Given the description of an element on the screen output the (x, y) to click on. 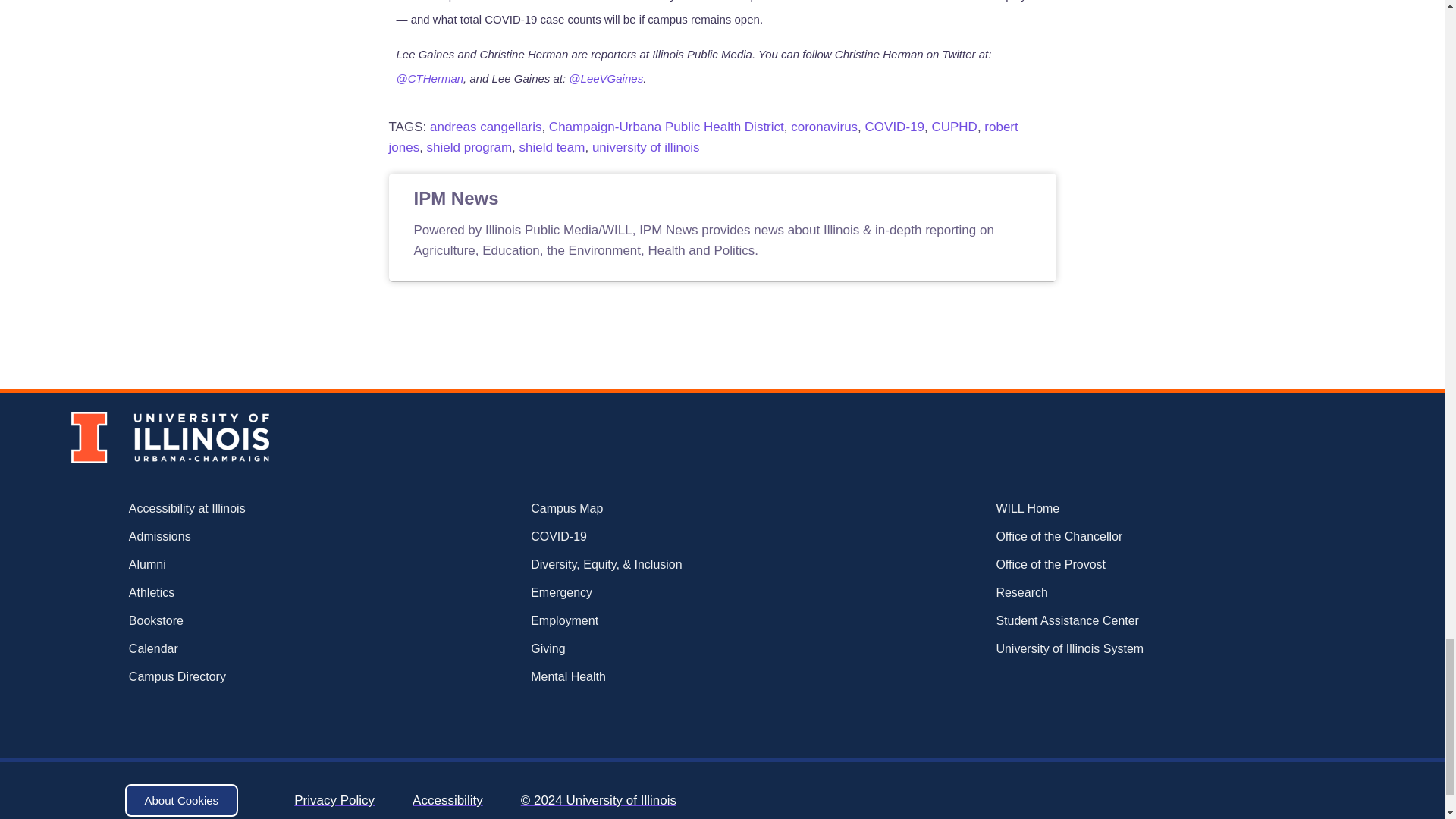
COVID-19 (894, 126)
andreas cangellaris (485, 126)
shield team (551, 147)
coronavirus (823, 126)
shield program (469, 147)
Admissions (235, 536)
Athletics (235, 592)
Alumni (235, 565)
robert jones (702, 136)
university of illinois (646, 147)
